Given the description of an element on the screen output the (x, y) to click on. 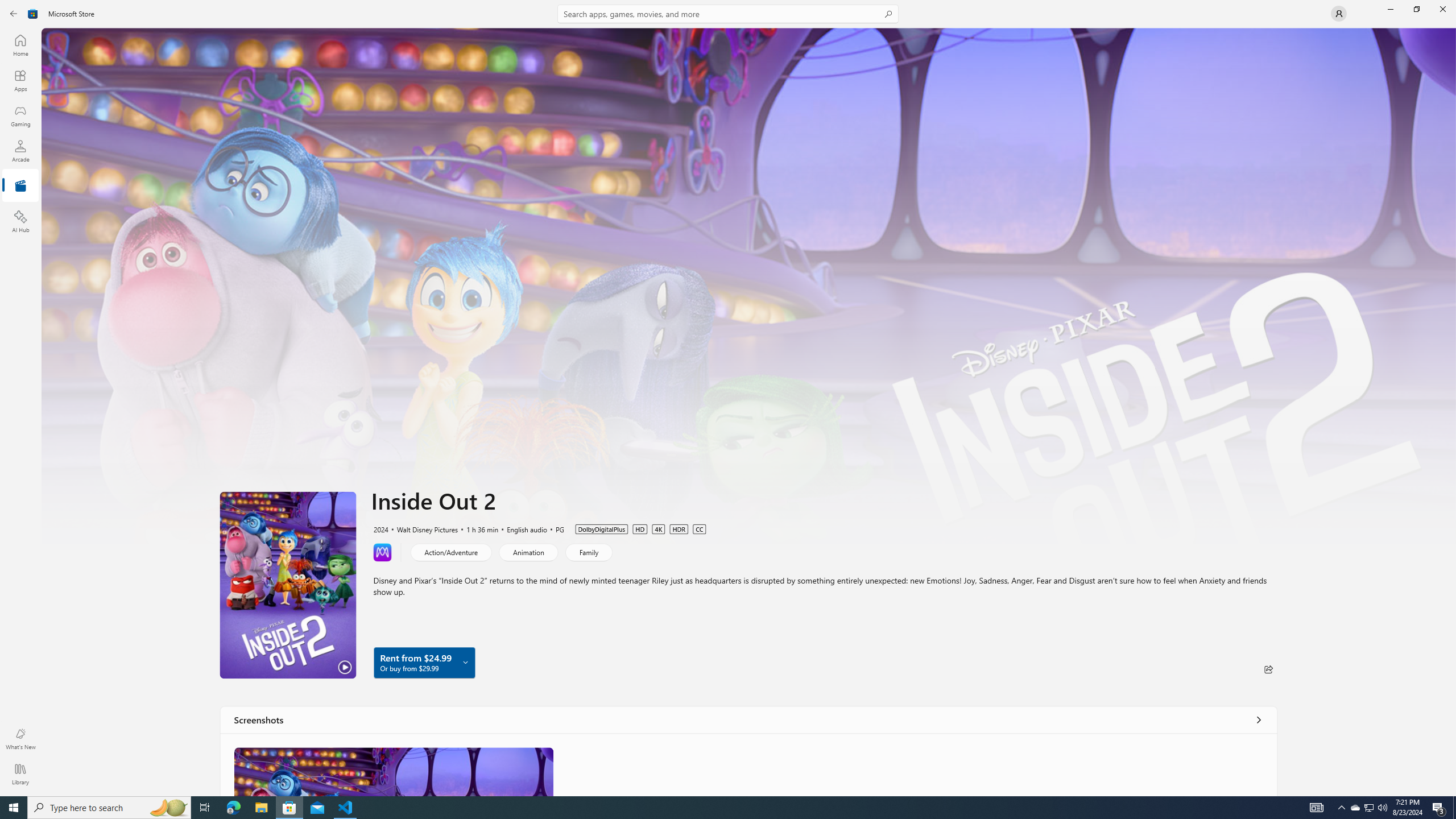
Action/Adventure (451, 551)
See all (1258, 719)
What's New (20, 738)
User profile (1338, 13)
Library (20, 773)
Class: ListViewItem (393, 771)
Walt Disney Pictures (422, 528)
Minimize Microsoft Store (1390, 9)
English audio (521, 528)
Home (20, 45)
Arcade (20, 150)
2024 (379, 528)
Play Trailer (287, 584)
Gaming (20, 115)
Family (587, 551)
